Given the description of an element on the screen output the (x, y) to click on. 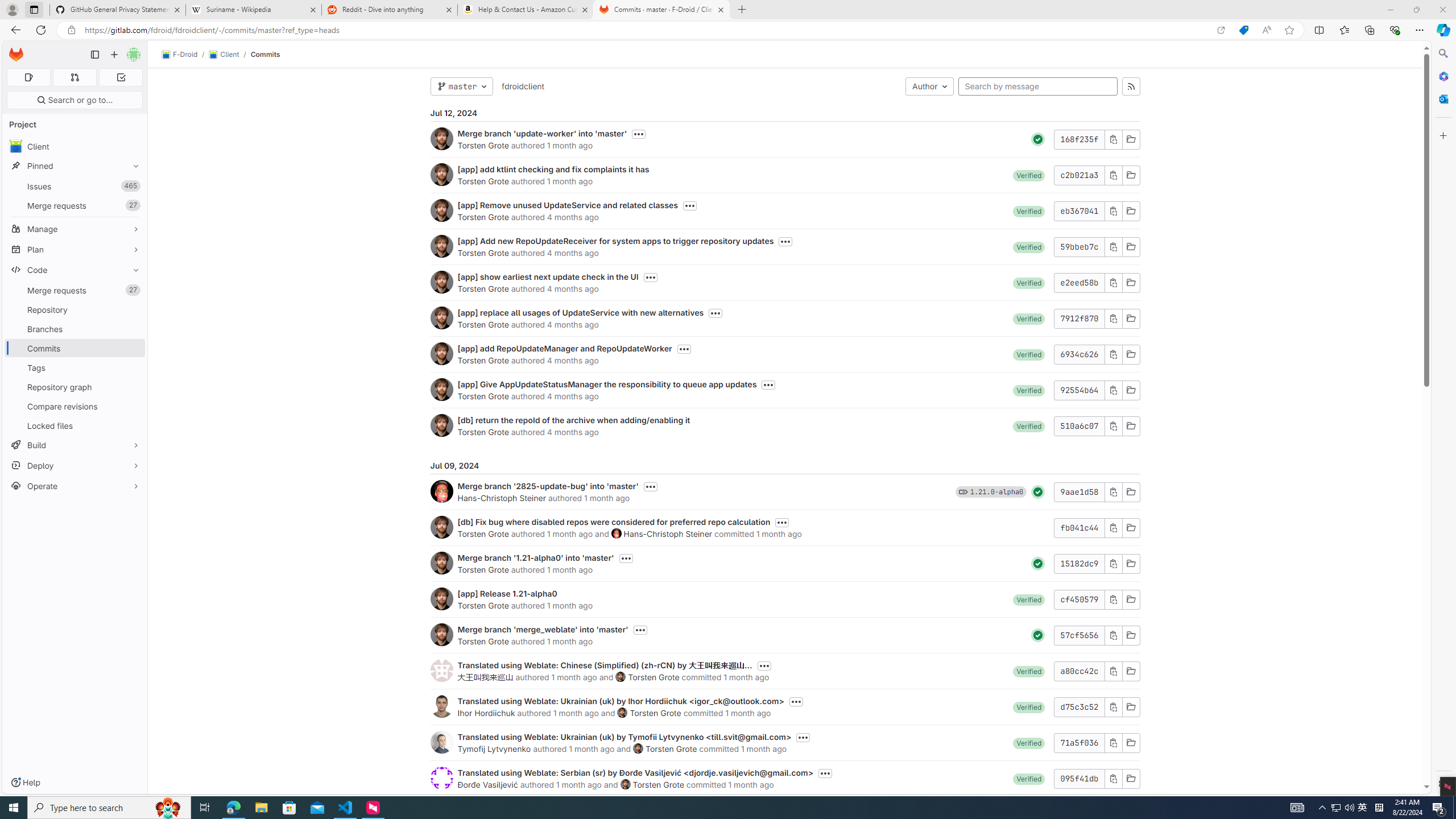
Tab actions menu (33, 9)
Running applications (707, 807)
Restore (1416, 9)
Class: s16 gl-icon gl-badge-icon (963, 491)
Manage (74, 228)
Pin Commits (132, 348)
F-Droid (179, 54)
New Tab (741, 9)
Commits (265, 53)
Torsten Grote's avatar (1362, 807)
GitHub General Privacy Statement - GitHub Docs (625, 783)
